Given the description of an element on the screen output the (x, y) to click on. 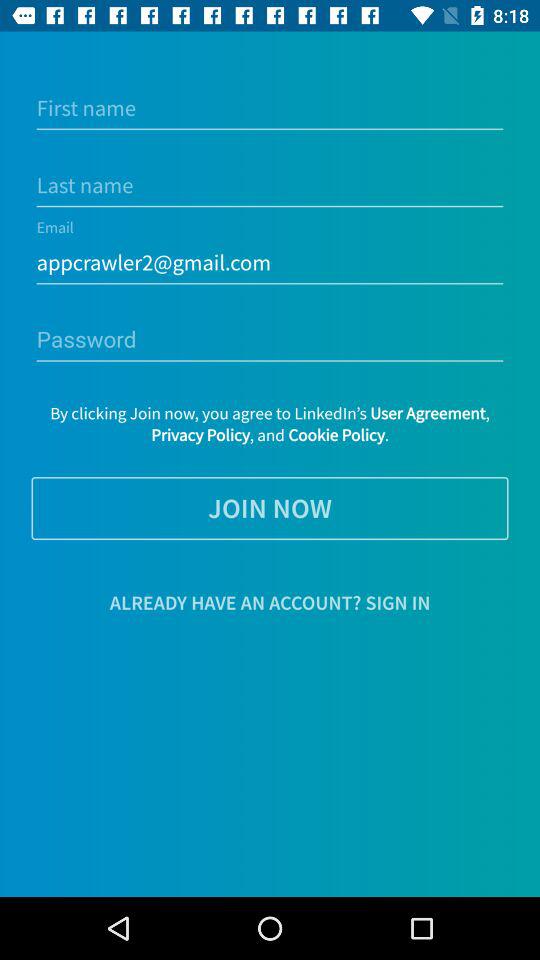
jump to already have an item (269, 602)
